Given the description of an element on the screen output the (x, y) to click on. 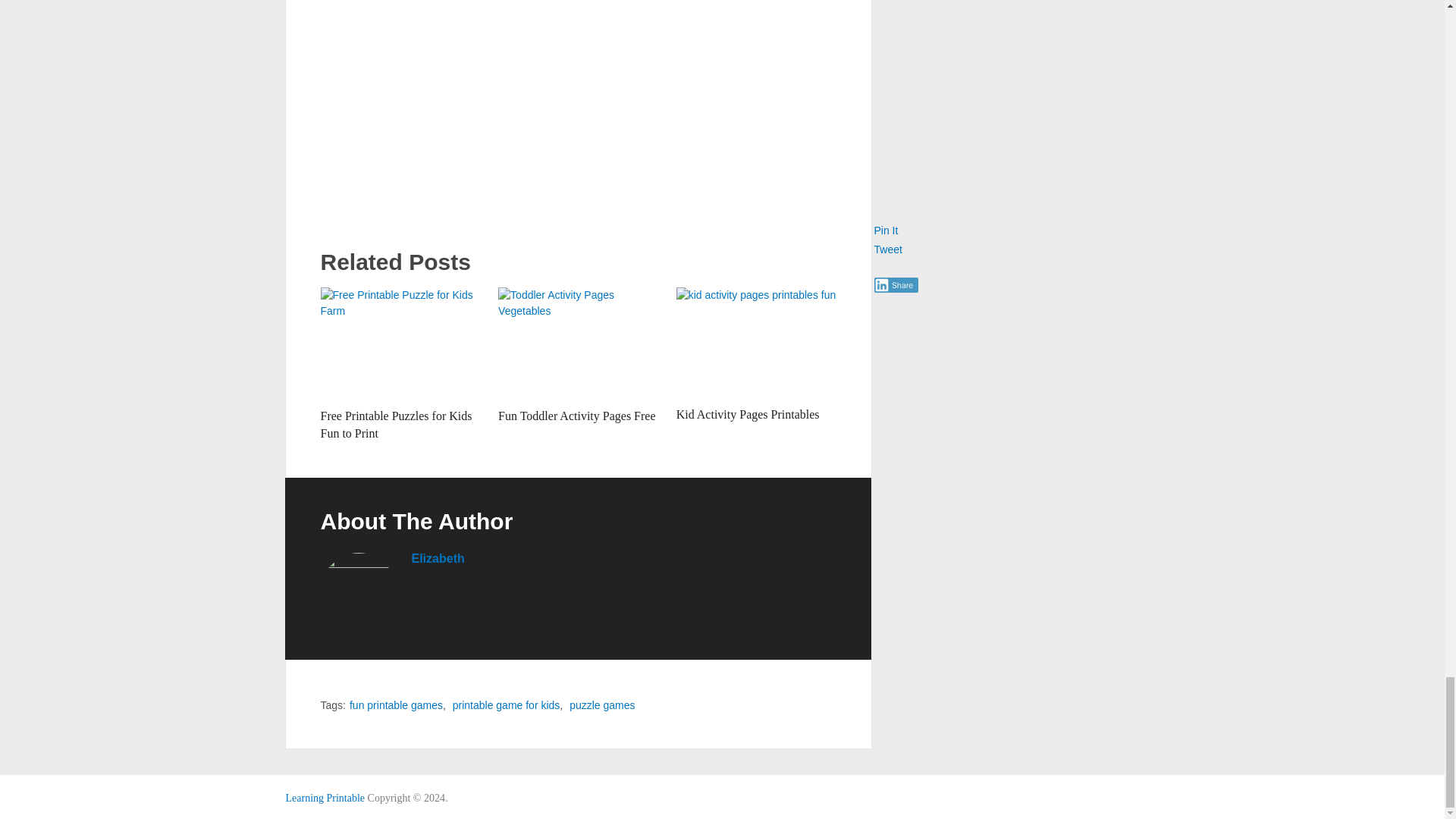
Kid Activity Pages Printables (756, 343)
Fun Toddler Activity Pages Free (577, 344)
Free Printable Puzzles for Kids Fun to Print (395, 423)
Free Printable Puzzles for Kids Fun to Print (400, 344)
Kid Activity Pages Printables (748, 413)
Fun Toddler Activity Pages Free (576, 415)
